Given the description of an element on the screen output the (x, y) to click on. 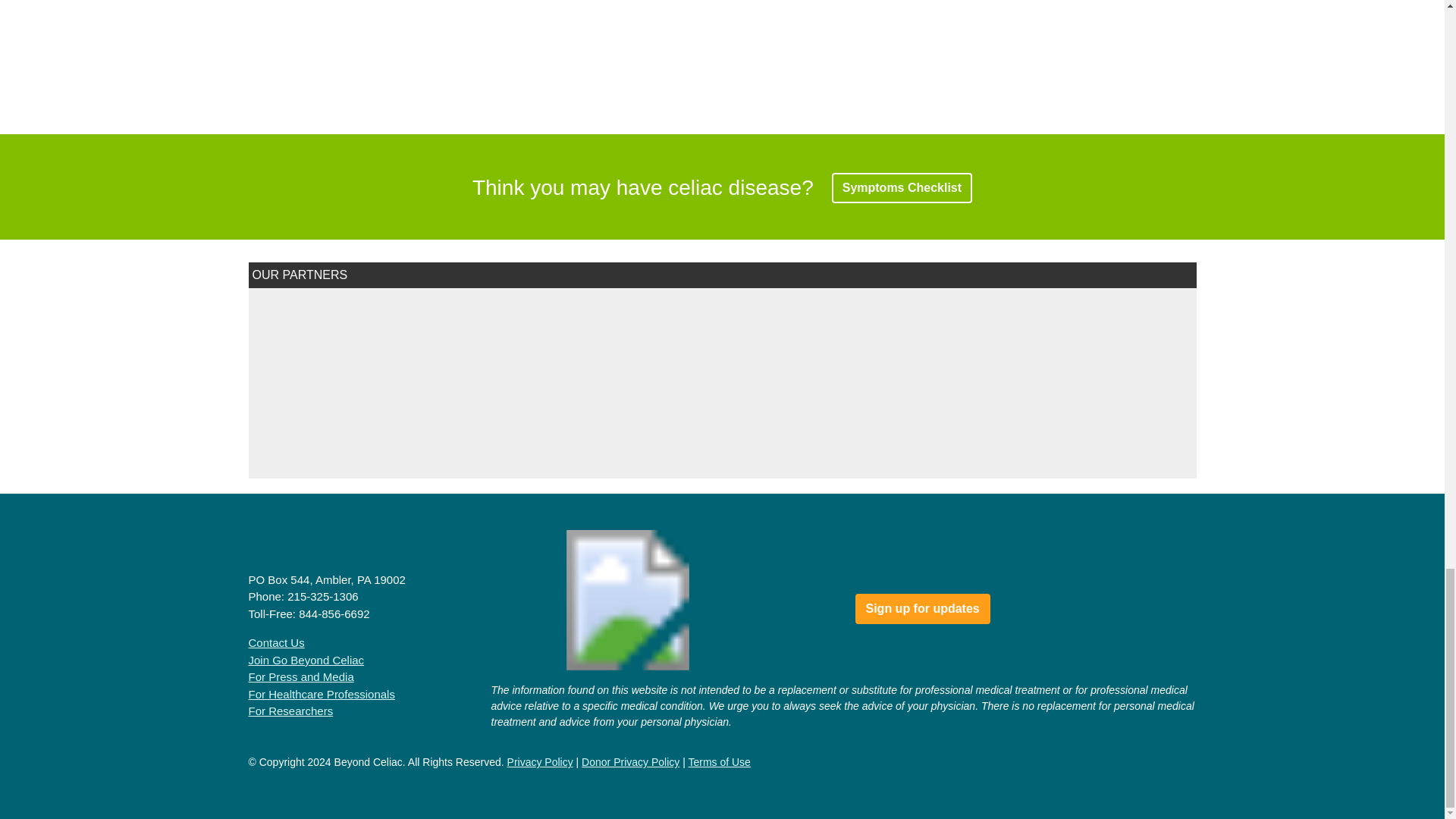
Visit Charity Navigator (631, 563)
Beyond Celiac at the NHC (719, 566)
Visit GuideStar (533, 565)
